Given the description of an element on the screen output the (x, y) to click on. 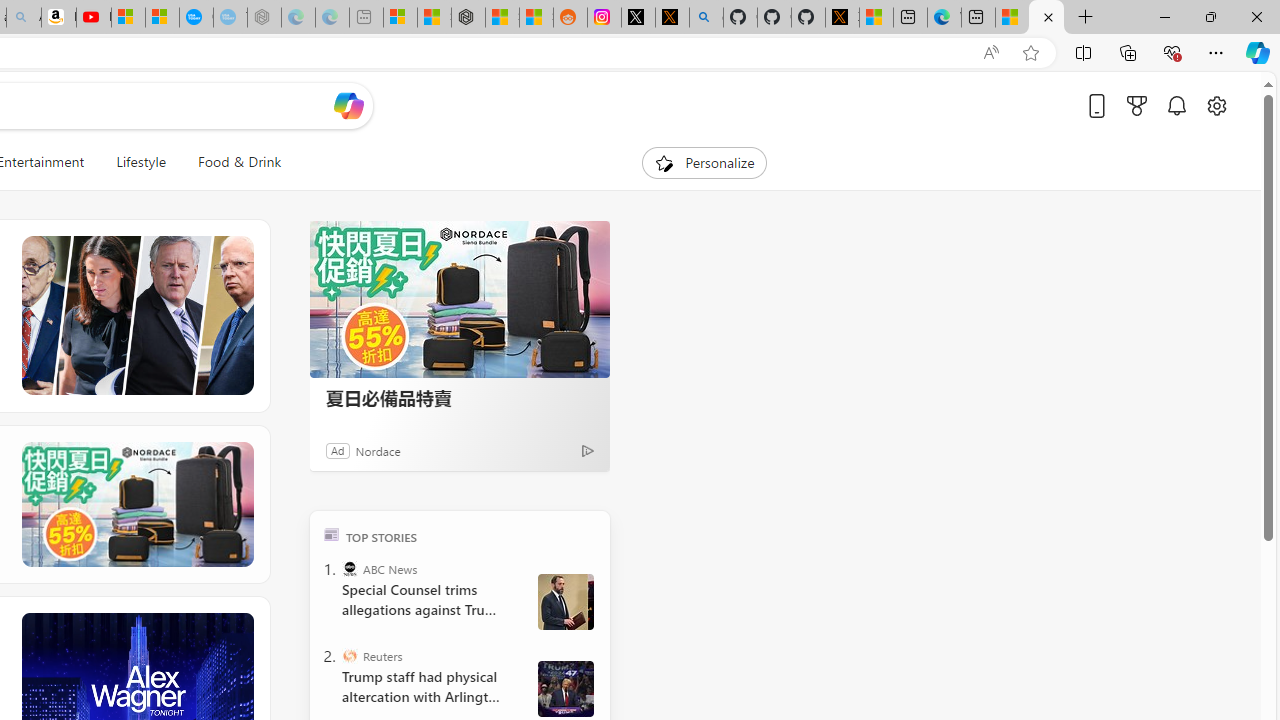
Lifestyle (140, 162)
MSNBC - MSN (1046, 17)
Nordace - Nordace has arrived Hong Kong - Sleeping (264, 17)
Opinion: Op-Ed and Commentary - USA TODAY (196, 17)
help.x.com | 524: A timeout occurred (671, 17)
Food & Drink (231, 162)
Day 1: Arriving in Yemen (surreal to be here) - YouTube (93, 17)
